Given the description of an element on the screen output the (x, y) to click on. 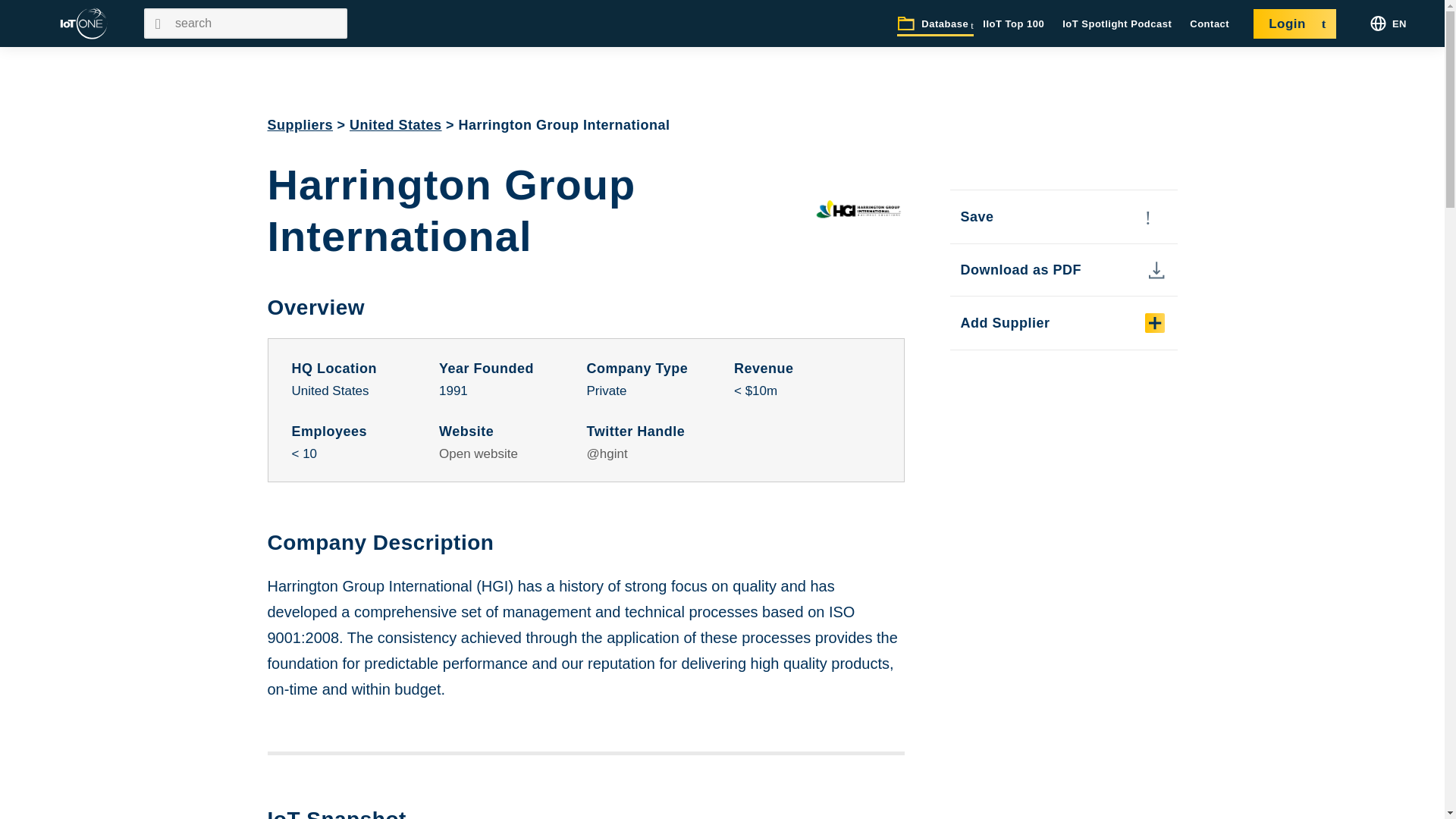
Harrington Group International Logo (858, 210)
IIoT Top 100 (1013, 23)
Open website (478, 453)
Suppliers (299, 124)
United States (395, 124)
IoT Spotlight Podcast (1117, 23)
Contact (1209, 23)
